Given the description of an element on the screen output the (x, y) to click on. 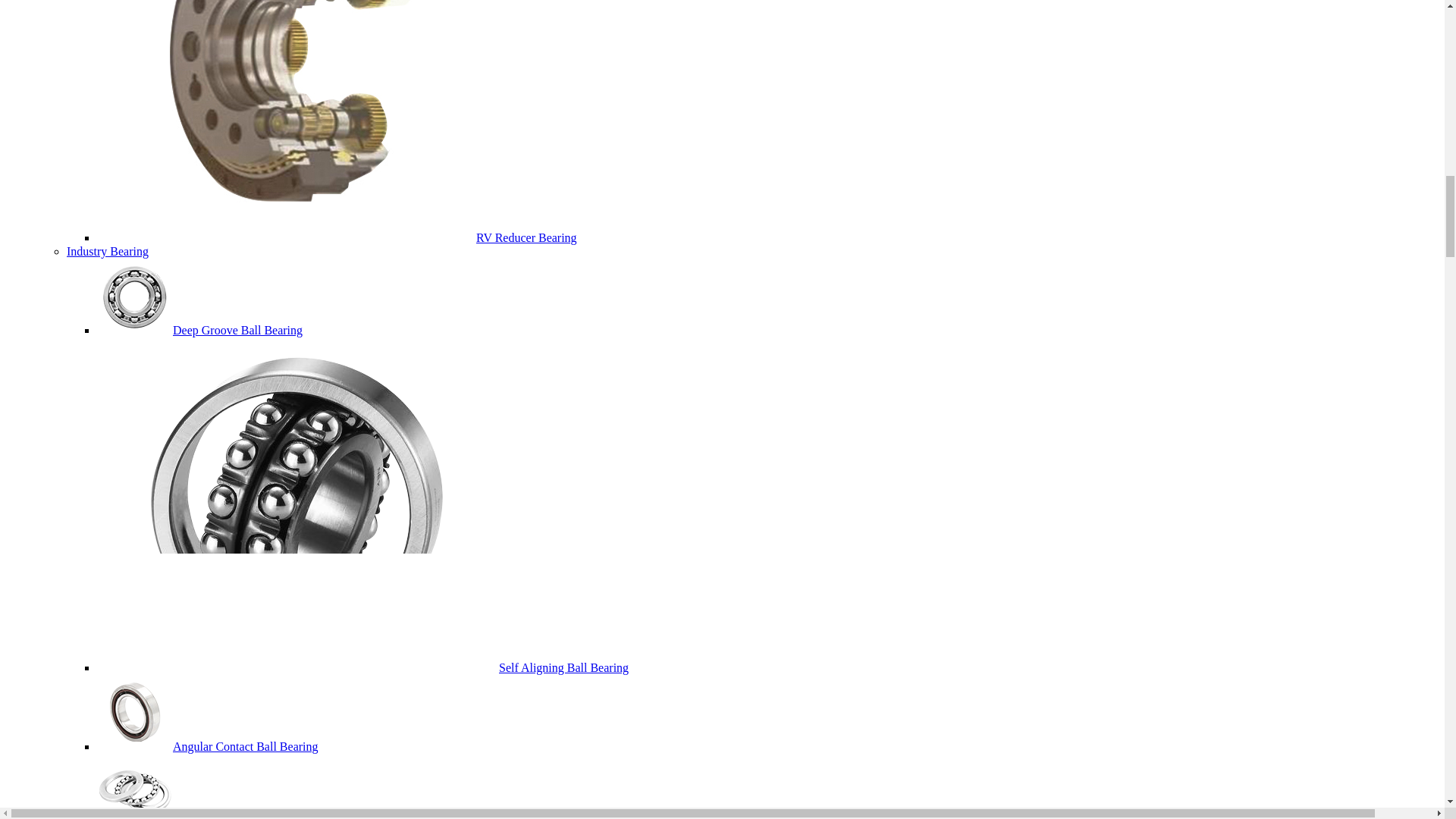
Industry Bearing (107, 250)
